Given the description of an element on the screen output the (x, y) to click on. 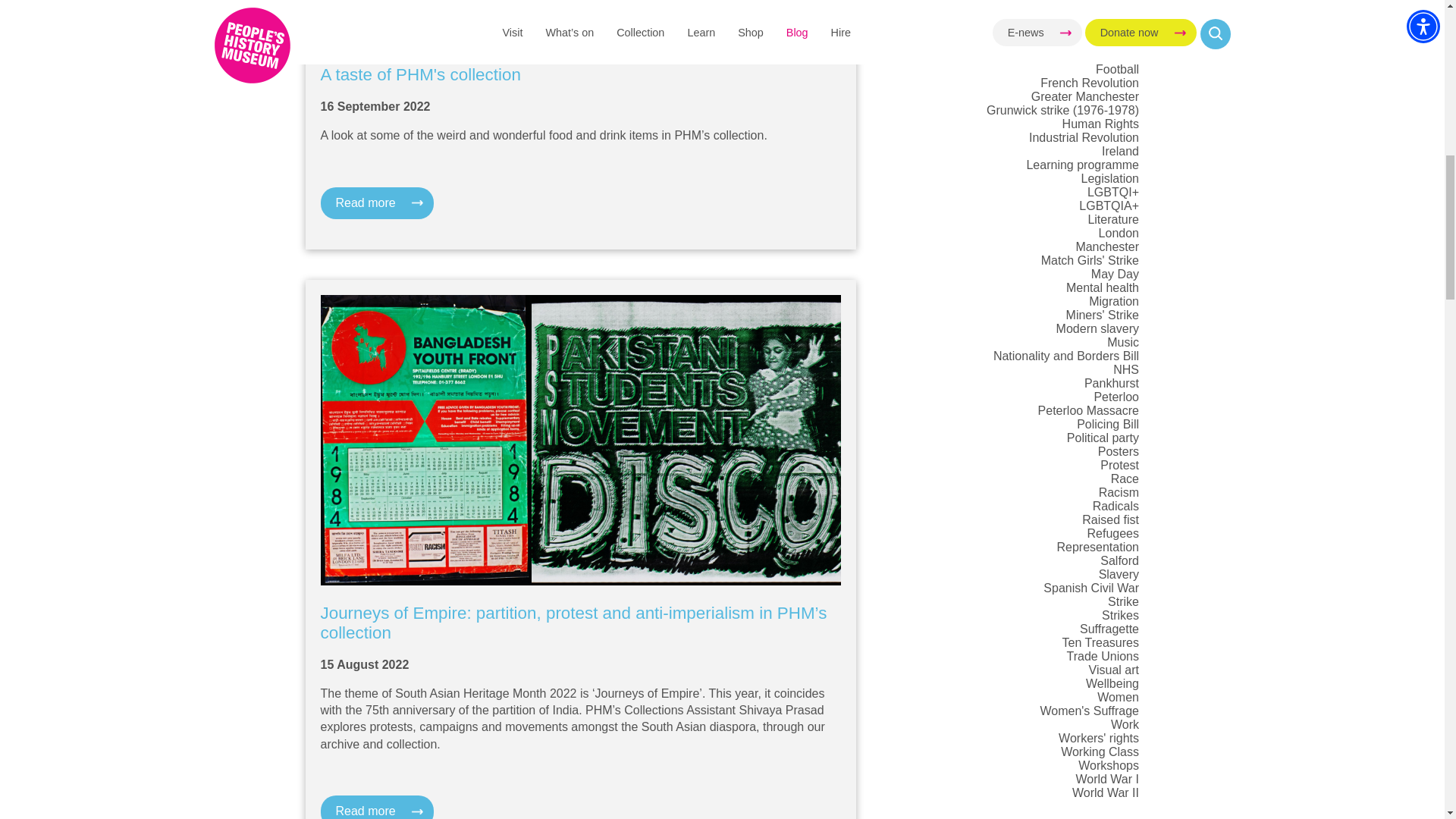
Read more (376, 203)
Read more (376, 807)
